Given the description of an element on the screen output the (x, y) to click on. 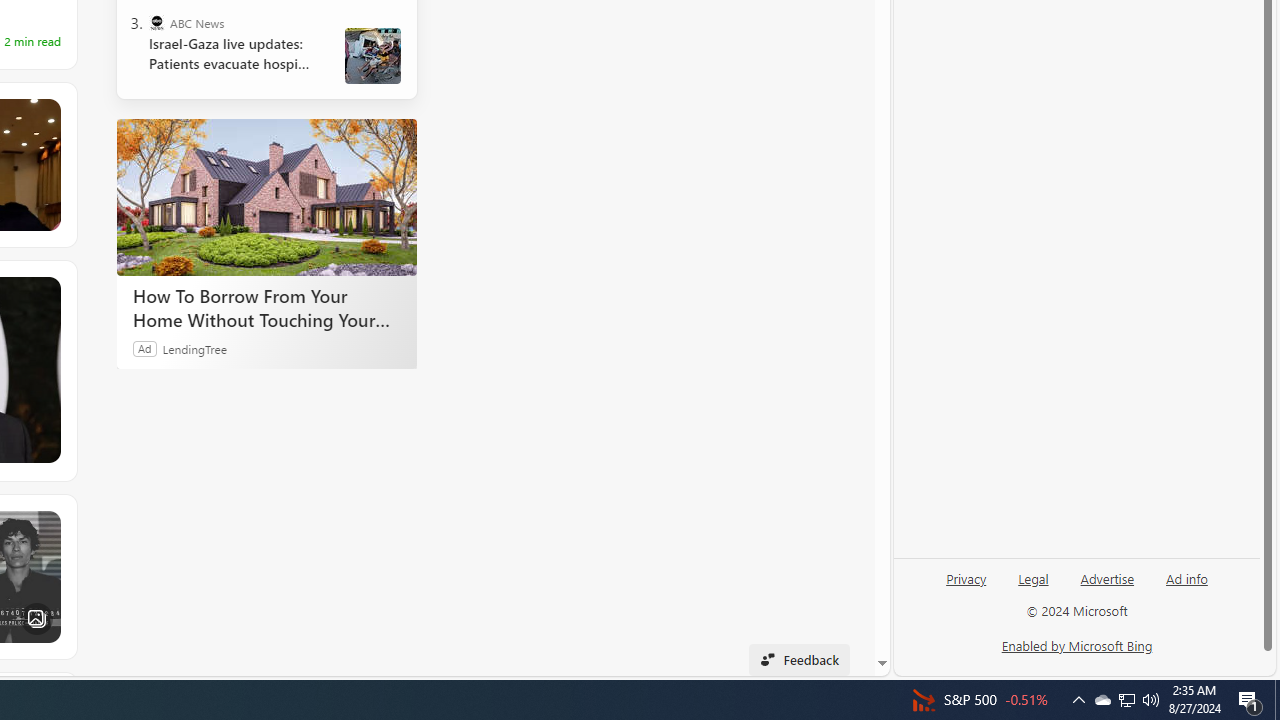
ABC News (156, 22)
